Given the description of an element on the screen output the (x, y) to click on. 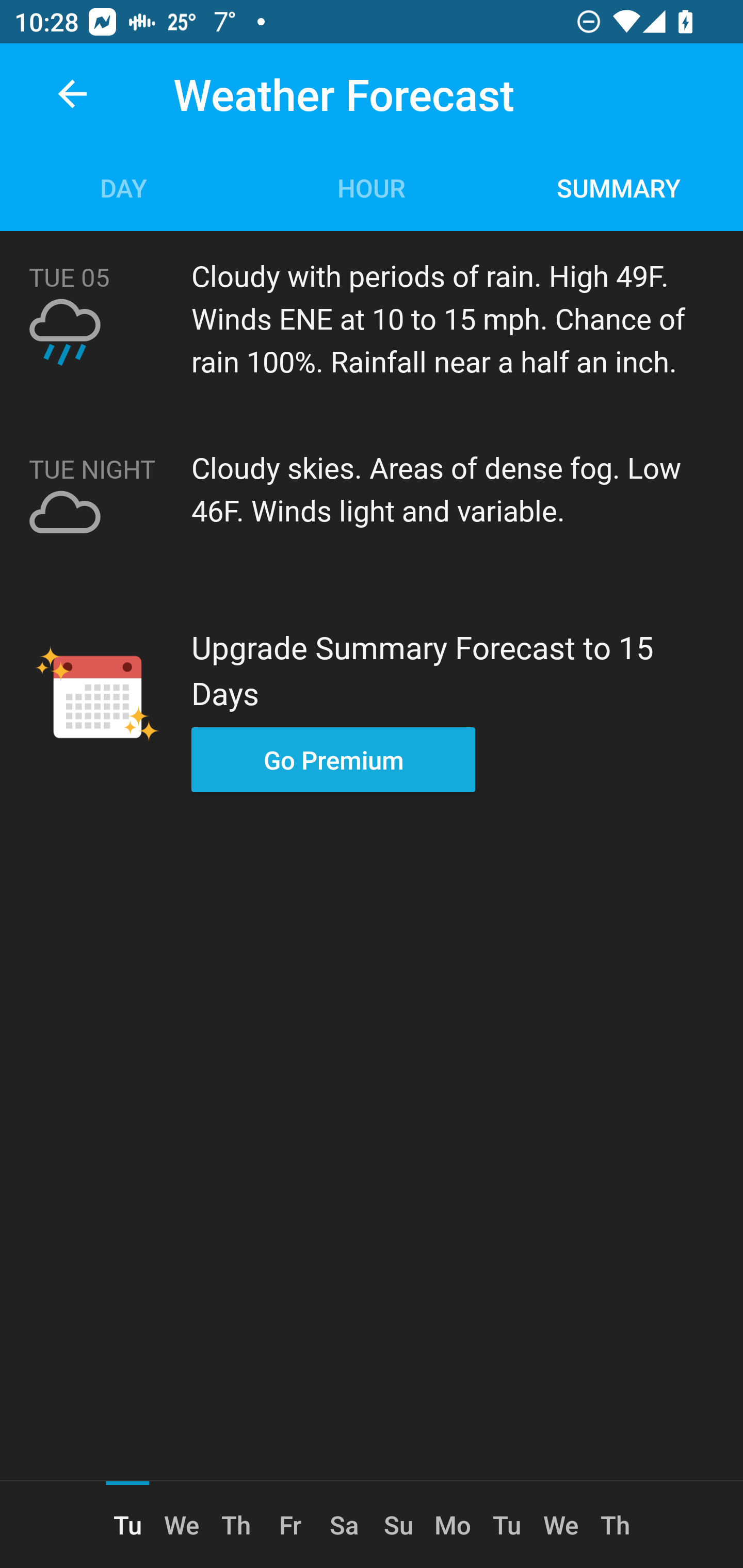
back (71, 93)
Day Tab DAY (123, 187)
Hour Tab HOUR (371, 187)
Go Premium (333, 759)
We (181, 1524)
Th (235, 1524)
Fr (290, 1524)
Sa (344, 1524)
Su (398, 1524)
Mo (452, 1524)
Tu (506, 1524)
We (561, 1524)
Th (615, 1524)
